Given the description of an element on the screen output the (x, y) to click on. 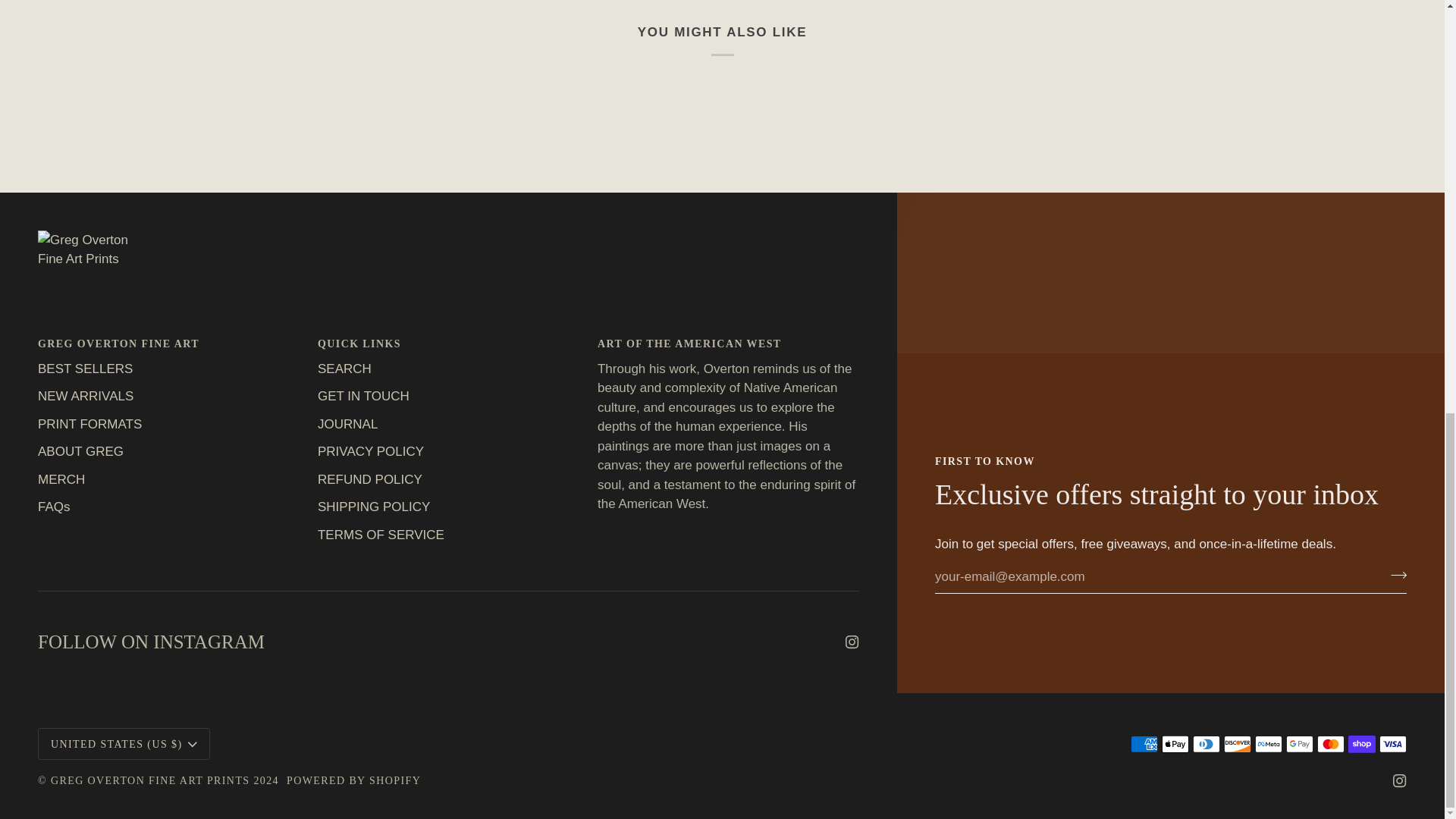
Instagram (852, 642)
Instagram (1399, 780)
APPLE PAY (1175, 743)
MASTERCARD (1330, 743)
SHOP PAY (1361, 743)
META PAY (1268, 743)
DINERS CLUB (1206, 743)
GOOGLE PAY (1299, 743)
VISA (1392, 743)
DISCOVER (1237, 743)
AMERICAN EXPRESS (1144, 743)
